Given the description of an element on the screen output the (x, y) to click on. 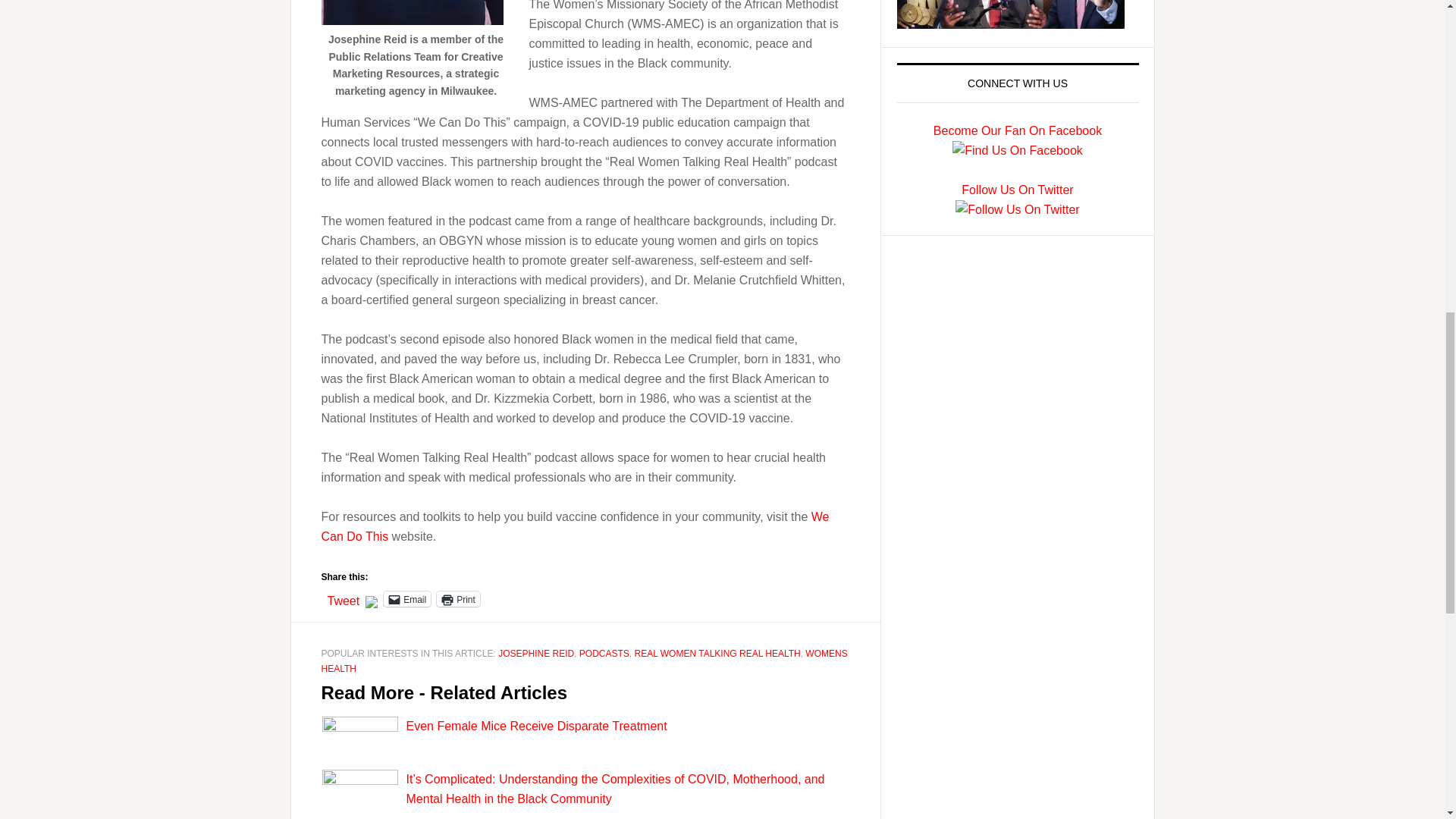
REAL WOMEN TALKING REAL HEALTH (717, 653)
Click to email a link to a friend (407, 598)
Email (407, 598)
Print (458, 598)
PODCASTS (603, 653)
We Can Do This (575, 526)
Click to print (458, 598)
JOSEPHINE REID (535, 653)
Tweet (343, 598)
WOMENS HEALTH (584, 661)
